Given the description of an element on the screen output the (x, y) to click on. 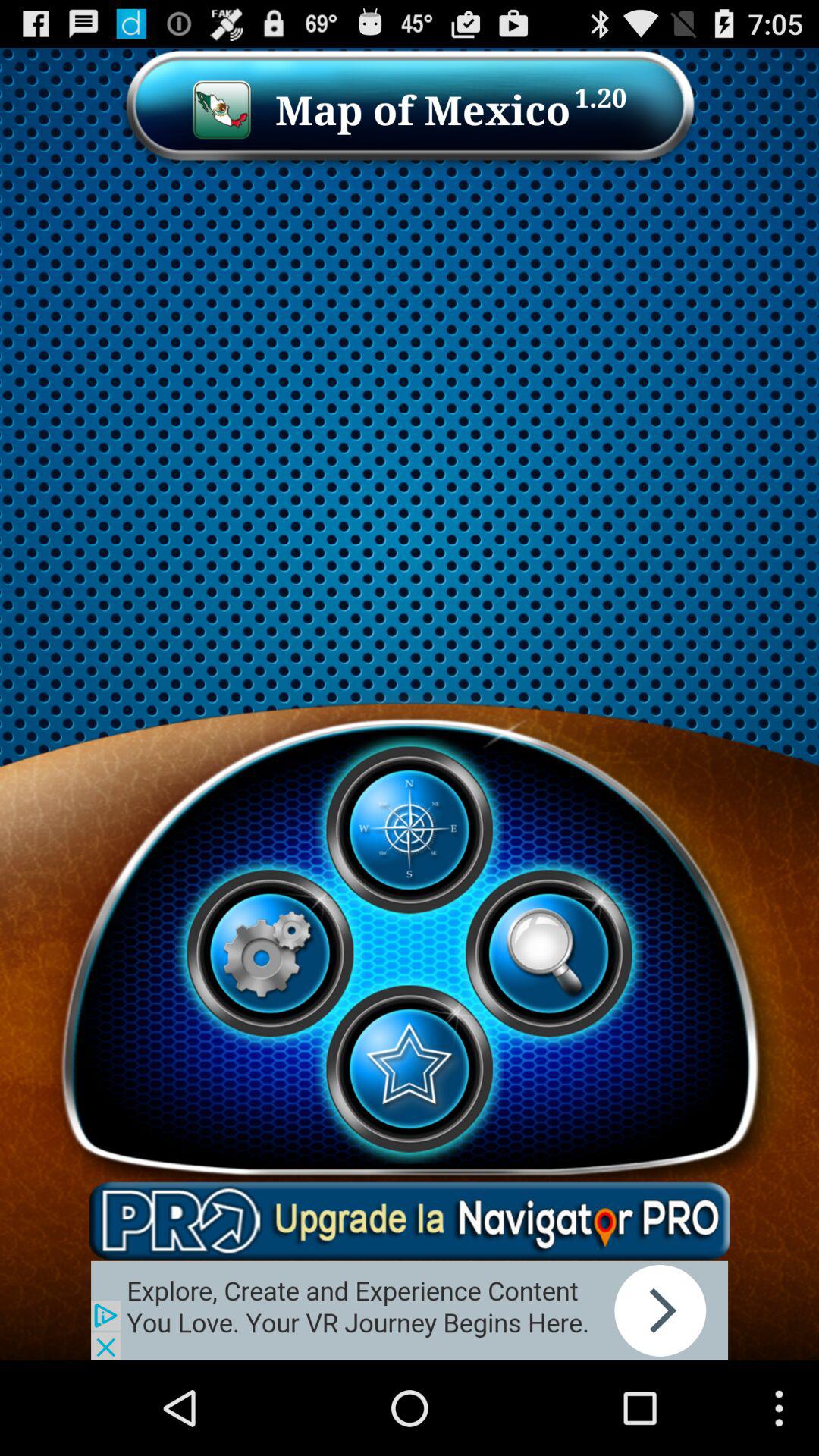
go to next (409, 1310)
